Given the description of an element on the screen output the (x, y) to click on. 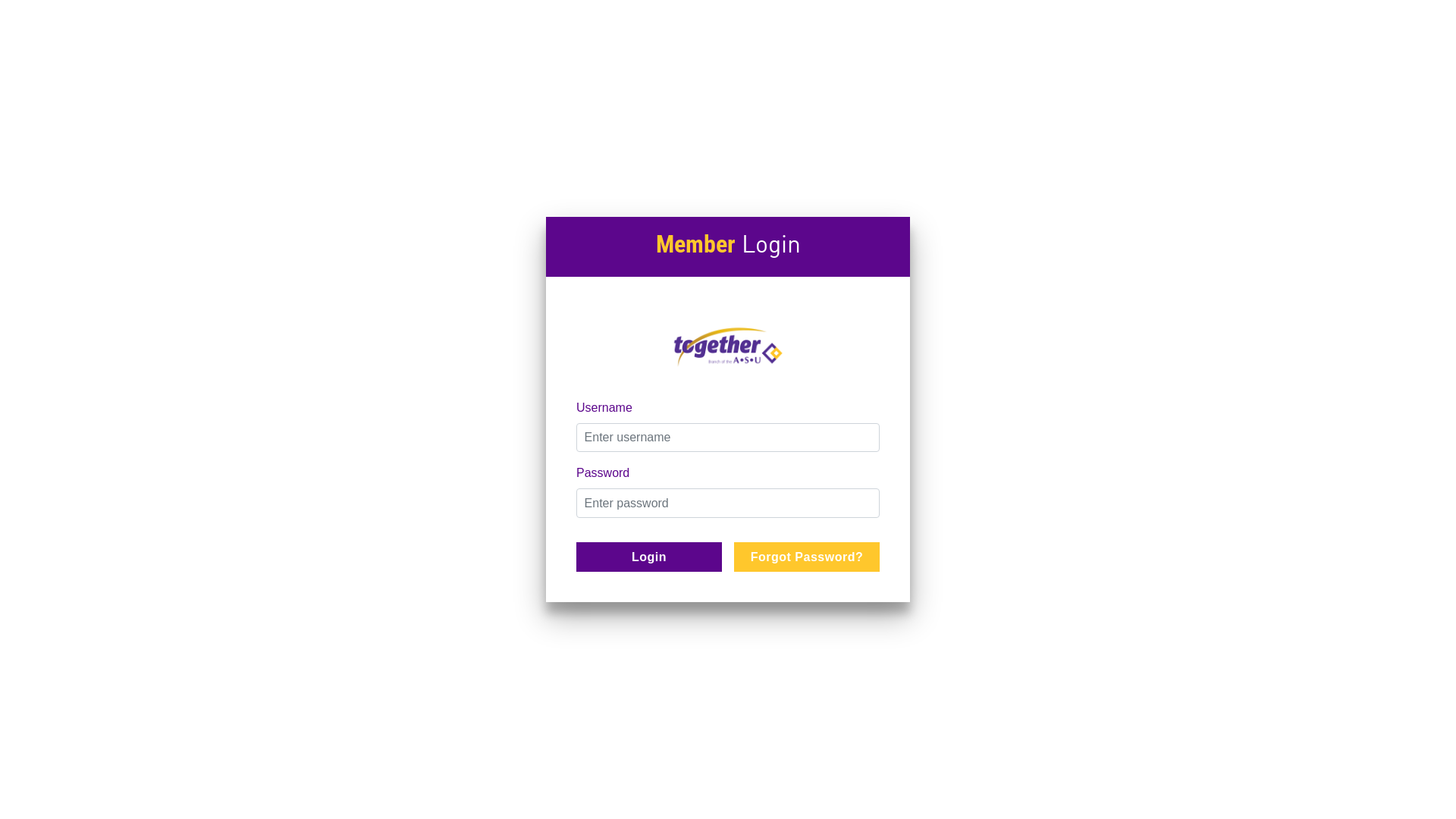
Login Element type: text (648, 556)
Forgot Password? Element type: text (806, 556)
